Given the description of an element on the screen output the (x, y) to click on. 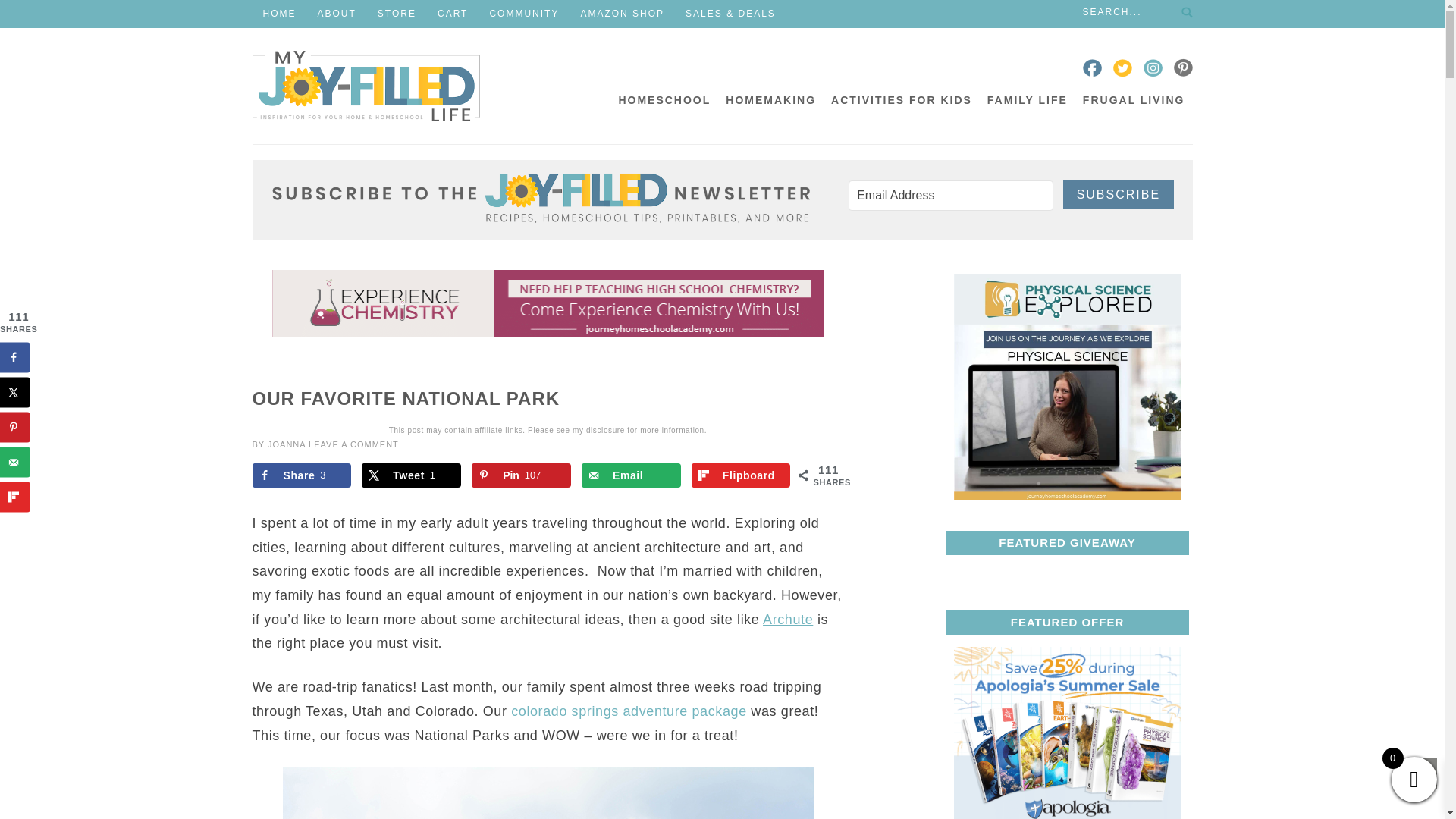
Share on X (411, 475)
Send over email (630, 475)
Share on Facebook (300, 475)
Share on Flipboard (740, 475)
Save to Pinterest (520, 475)
